Given the description of an element on the screen output the (x, y) to click on. 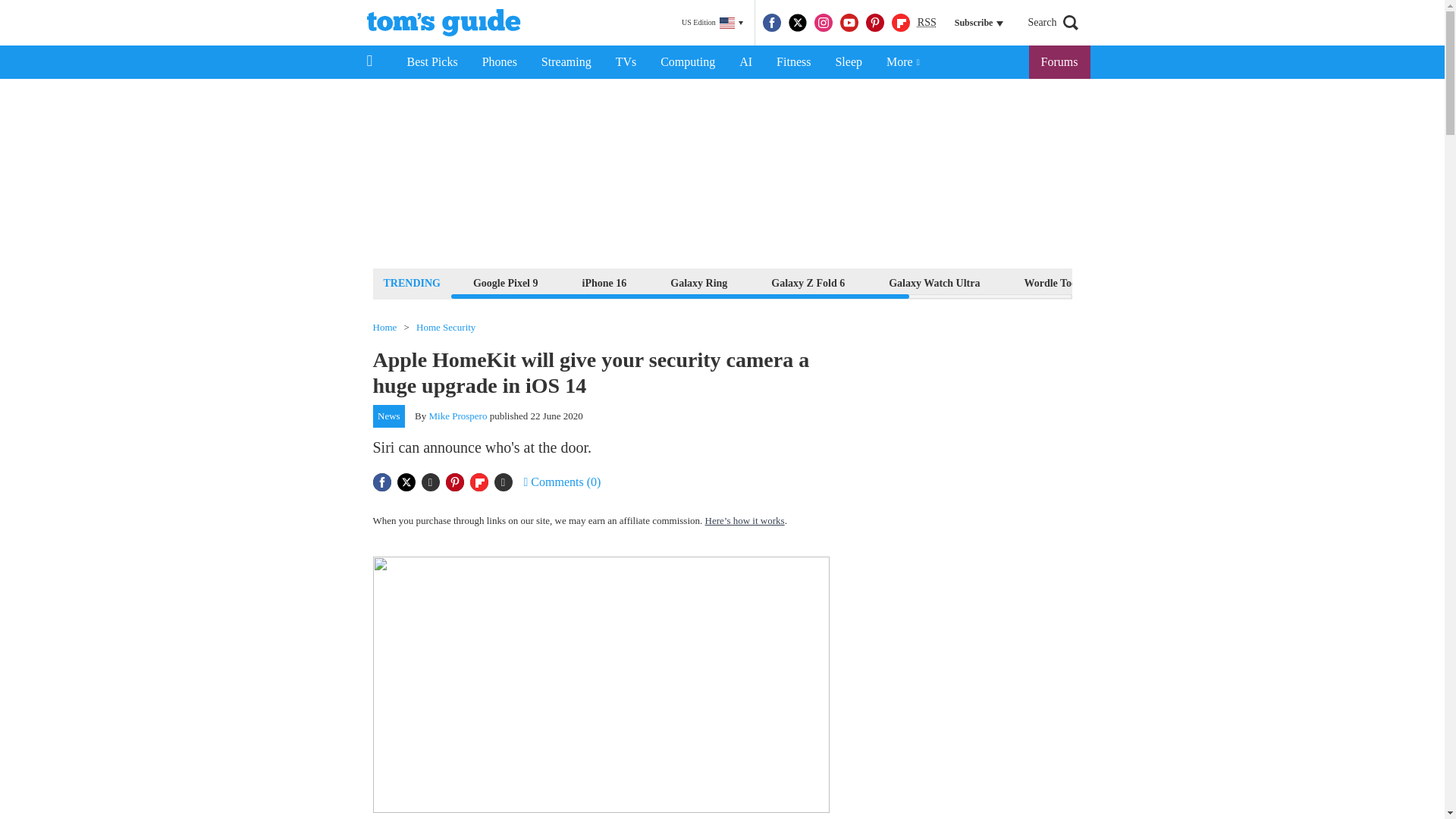
AI (745, 61)
Sleep (848, 61)
Computing (686, 61)
Phones (499, 61)
Really Simple Syndication (926, 21)
Best Picks (431, 61)
US Edition (712, 22)
TVs (626, 61)
Streaming (566, 61)
RSS (926, 22)
Fitness (793, 61)
